Given the description of an element on the screen output the (x, y) to click on. 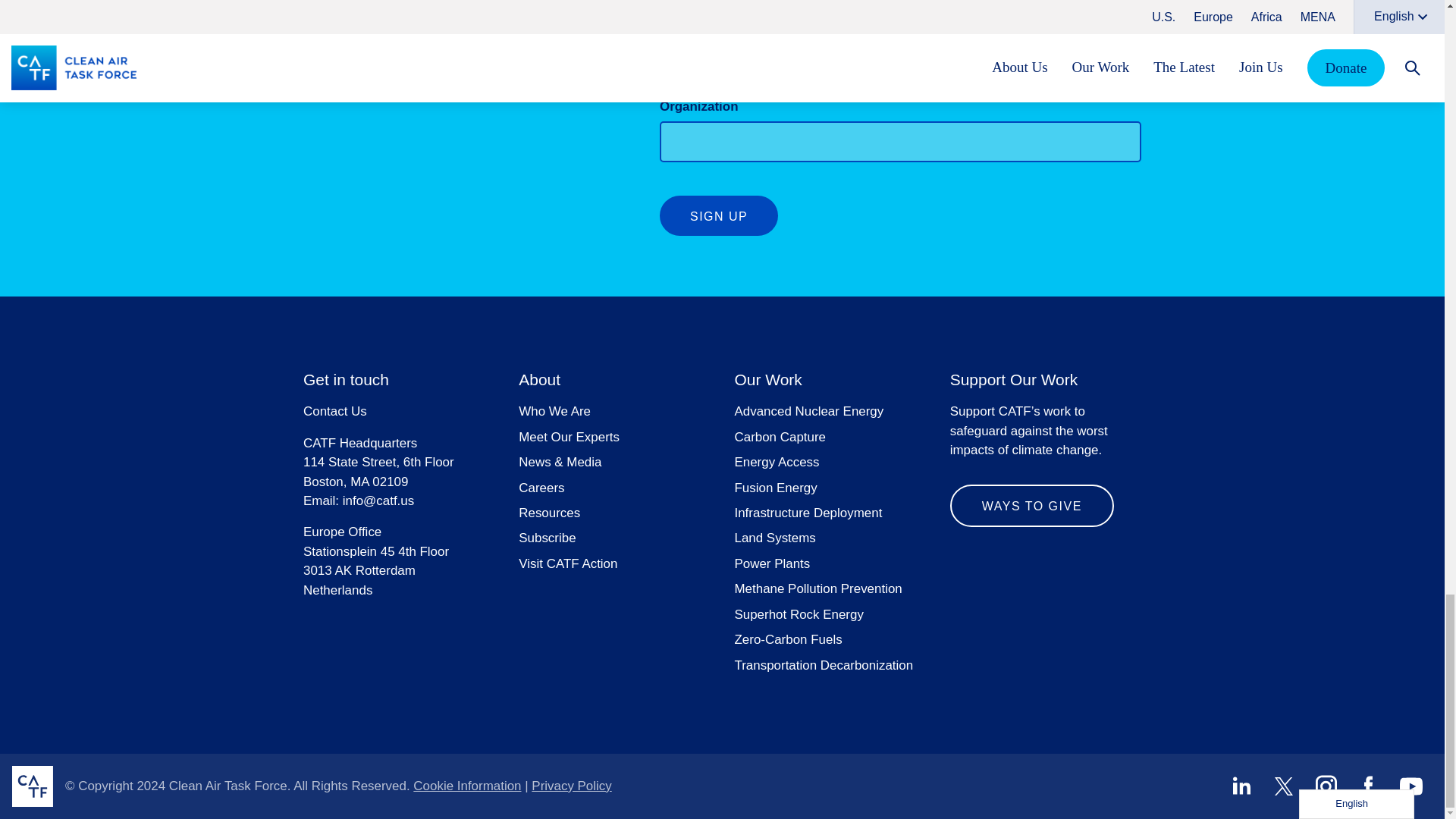
Sign Up (718, 215)
